Given the description of an element on the screen output the (x, y) to click on. 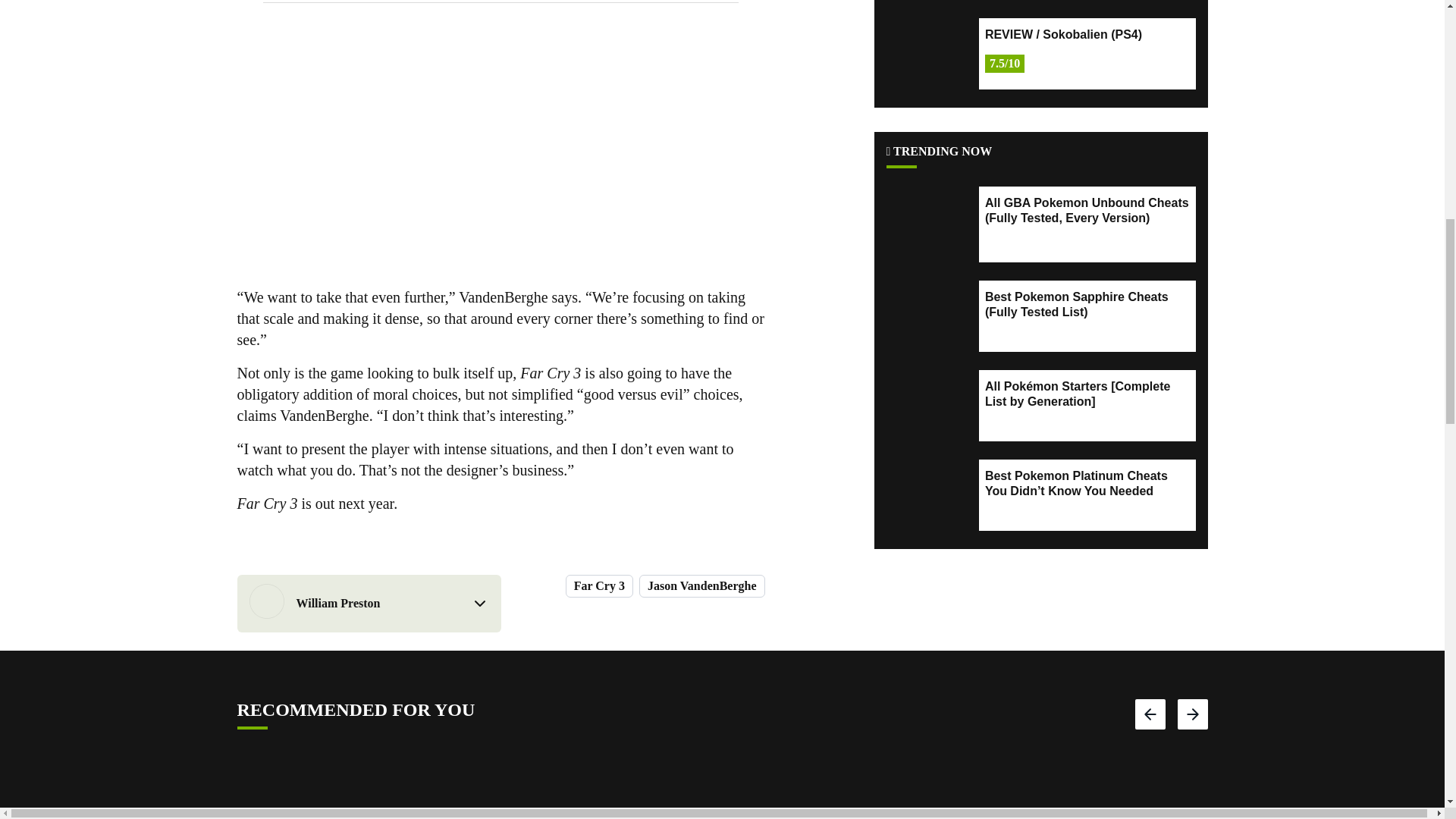
Scroll back to top (1406, 708)
